Given the description of an element on the screen output the (x, y) to click on. 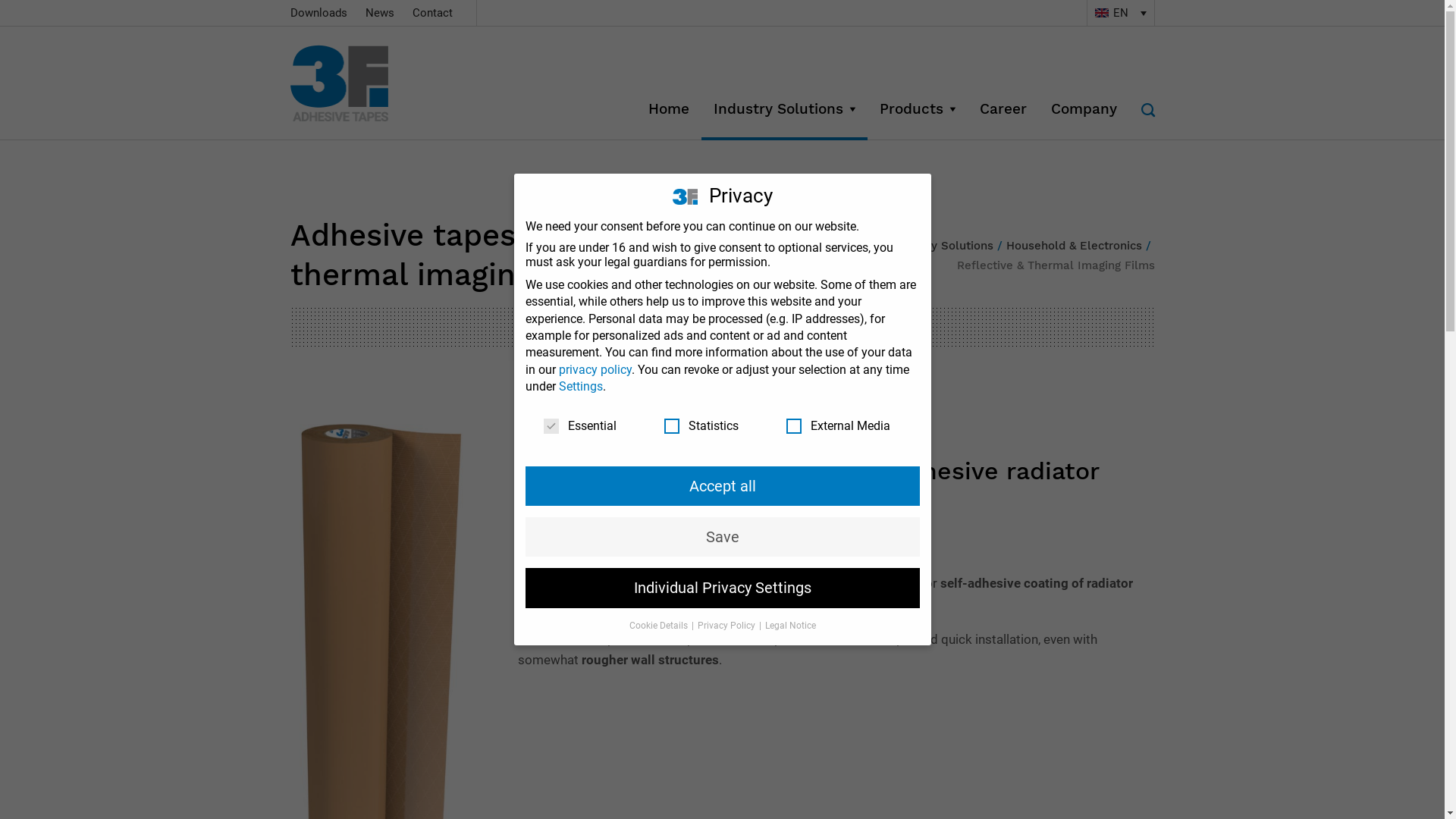
Contact Element type: text (432, 12)
Home Element type: text (862, 245)
Cookie Details Element type: text (659, 625)
3F GmbH Element type: hover (357, 83)
News Element type: text (379, 12)
Household & Electronics Element type: text (1073, 245)
Career Element type: text (1002, 109)
Legal Notice Element type: text (789, 625)
EN Element type: text (1119, 12)
Industry Solutions Element type: text (783, 109)
privacy policy Element type: text (594, 369)
Privacy Policy Element type: text (727, 625)
Products Element type: text (917, 109)
Save Element type: text (721, 536)
Accept all Element type: text (721, 485)
Home Element type: text (667, 109)
Industry Solutions Element type: text (942, 245)
Downloads Element type: text (317, 12)
Company Element type: text (1083, 109)
Settings Element type: text (580, 386)
Individual Privacy Settings Element type: text (721, 587)
